Given the description of an element on the screen output the (x, y) to click on. 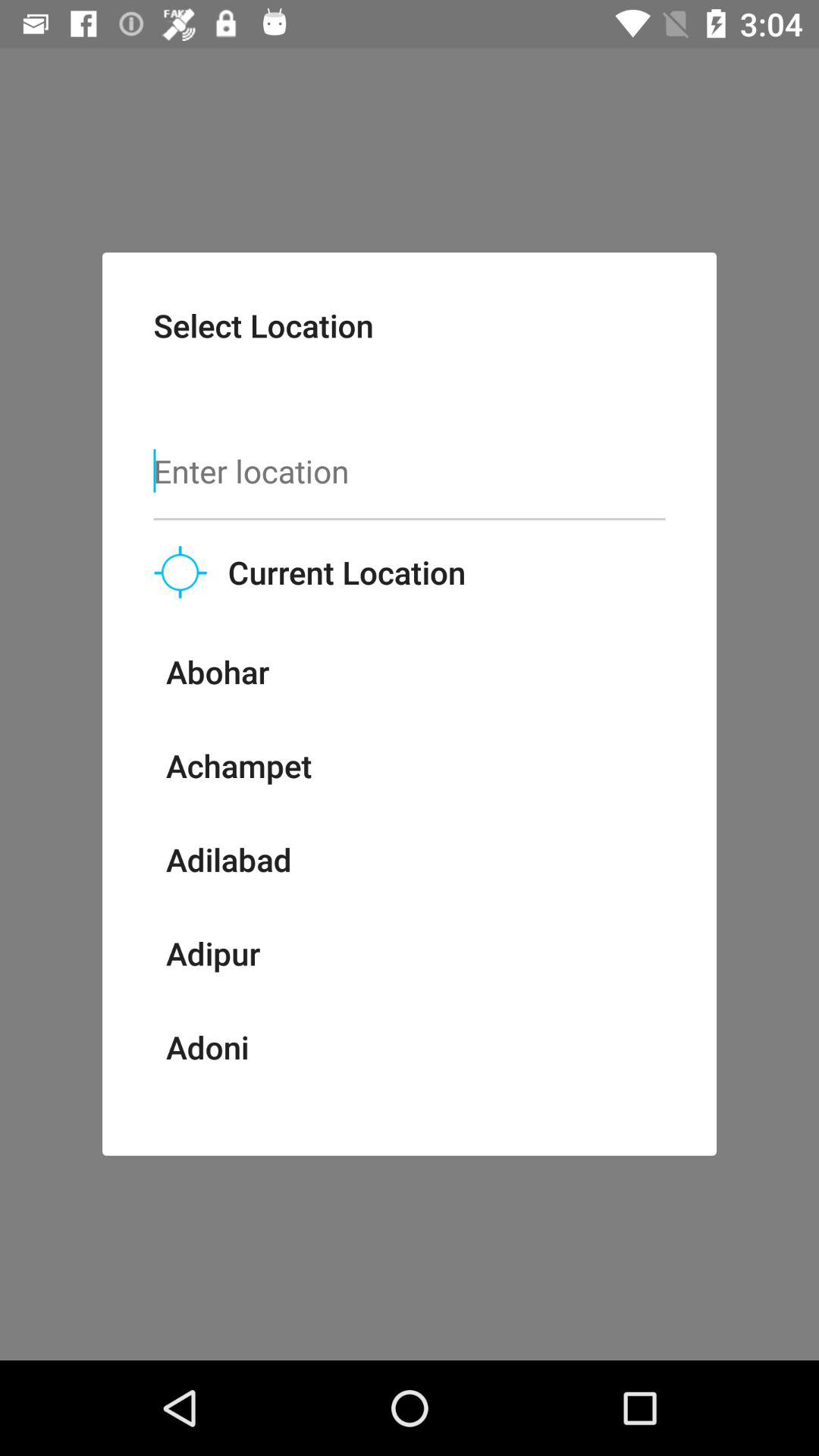
tap the item to the left of current location (180, 572)
